Given the description of an element on the screen output the (x, y) to click on. 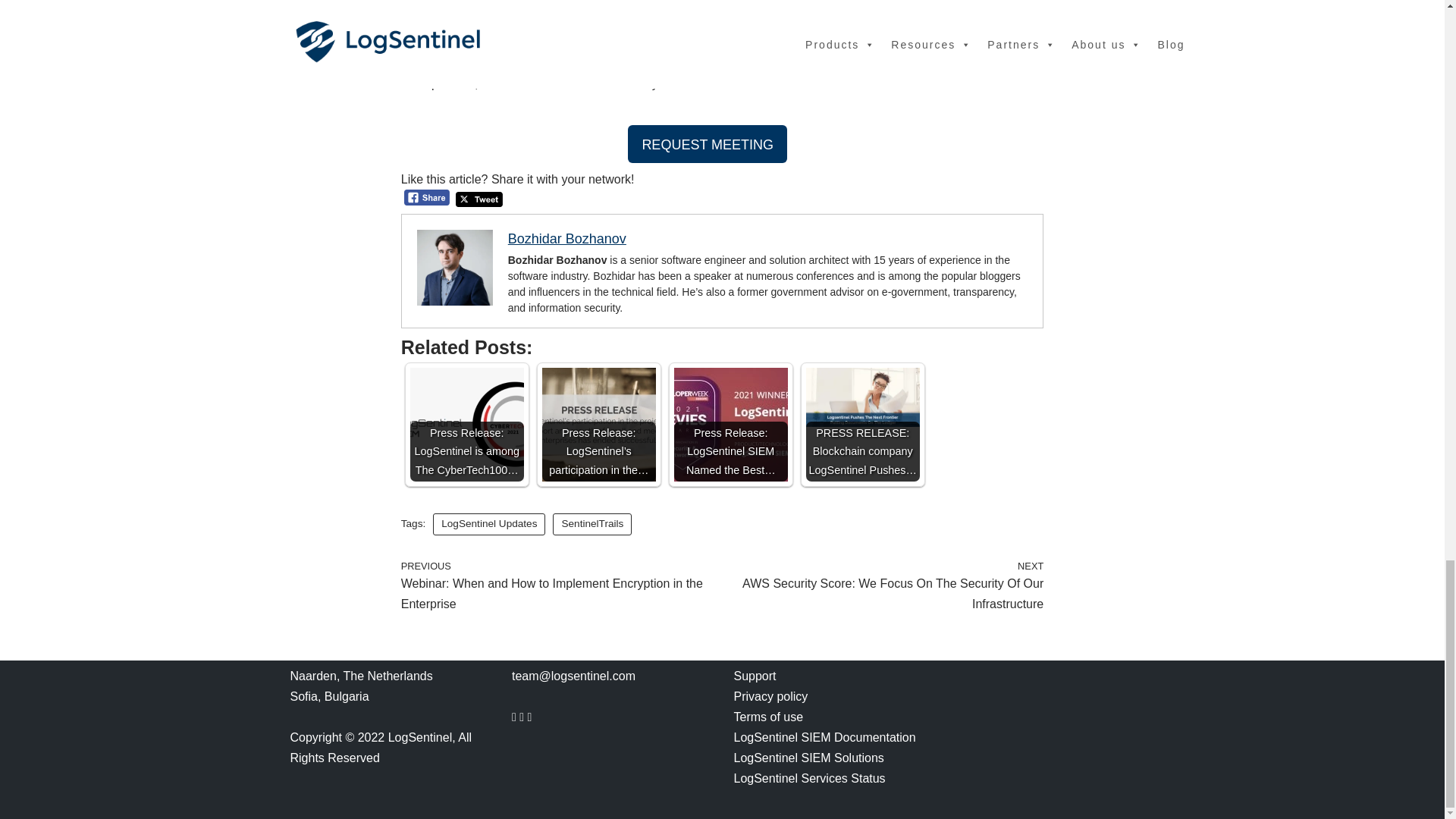
REQUEST MEETING (707, 143)
Facebook Share (426, 197)
SentinelTrails (592, 524)
Tweet (478, 199)
Form 0 (1054, 731)
LogSentinel Updates (488, 524)
